Given the description of an element on the screen output the (x, y) to click on. 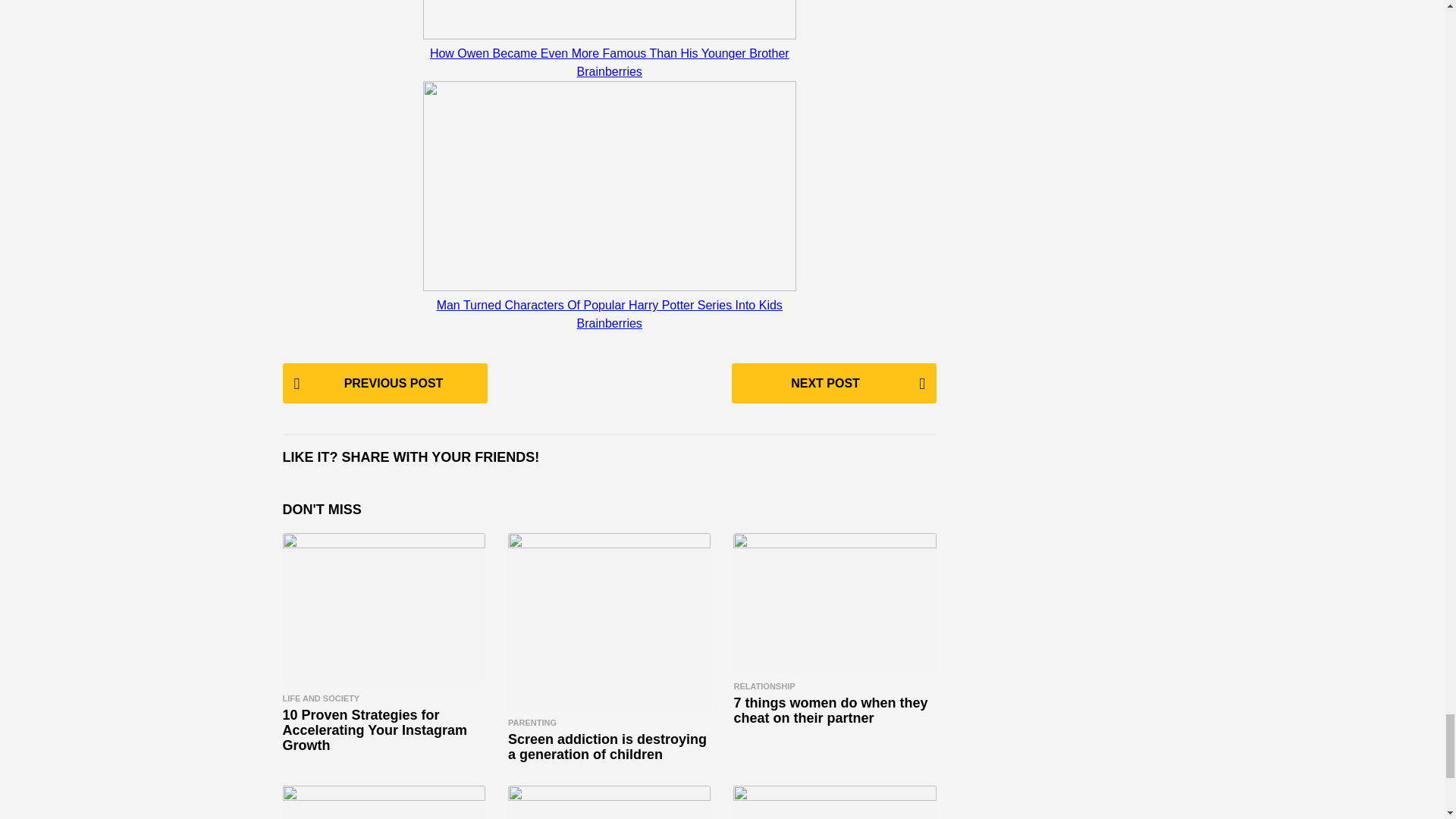
PARENTING (532, 722)
NEXT POST (834, 383)
7 things women do when they cheat on their partner (834, 602)
Screen addiction is destroying a generation of children (609, 621)
7 types of violent men to avoid and how to recognize them (383, 802)
PREVIOUS POST (384, 383)
RELATIONSHIP (763, 686)
Perfect ways to show your love (609, 802)
LIFE AND SOCIETY (320, 697)
10 Proven Strategies for Accelerating Your Instagram Growth (383, 609)
